Given the description of an element on the screen output the (x, y) to click on. 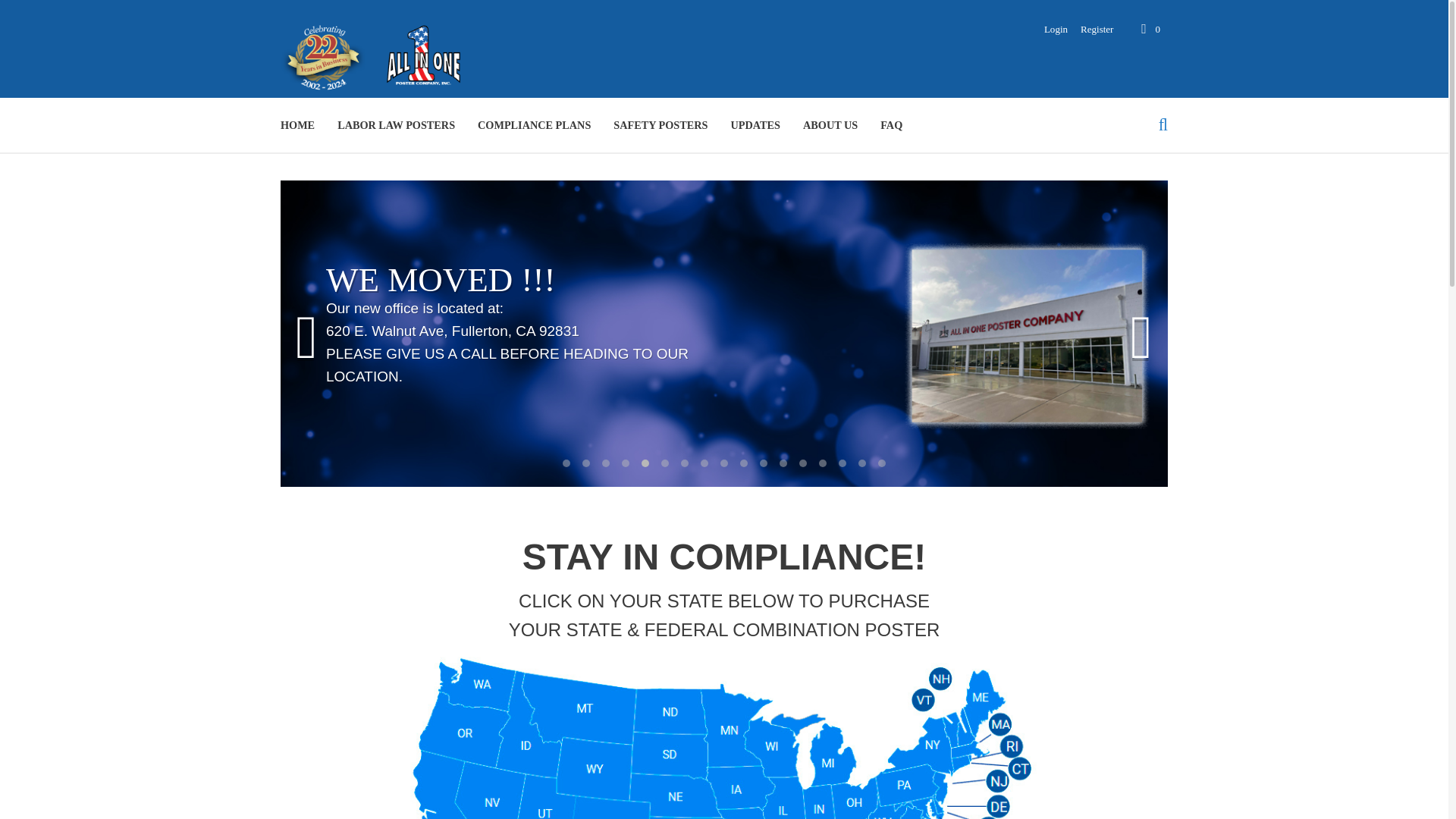
Cart (1149, 29)
Register (1090, 29)
LABOR LAW POSTERS (395, 124)
0 (1149, 29)
COMPLIANCE PLANS (533, 124)
ABOUT US (830, 124)
Login (1049, 29)
UPDATES (755, 124)
HOME (297, 124)
SAFETY POSTERS (660, 124)
All In One Poster Company (375, 54)
